Given the description of an element on the screen output the (x, y) to click on. 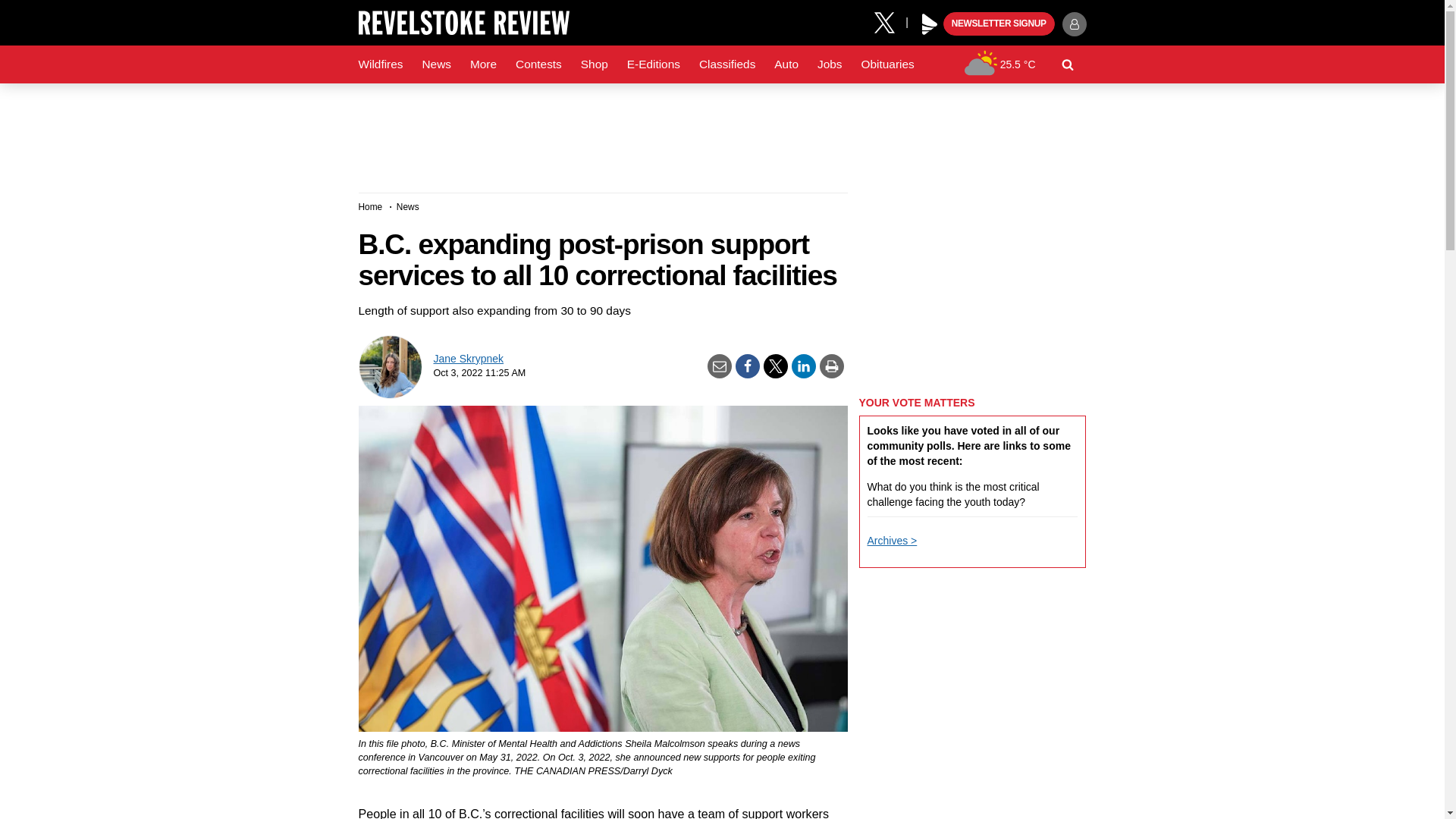
Wildfires (380, 64)
Black Press Media (929, 24)
NEWSLETTER SIGNUP (998, 24)
Play (929, 24)
X (889, 21)
News (435, 64)
